Given the description of an element on the screen output the (x, y) to click on. 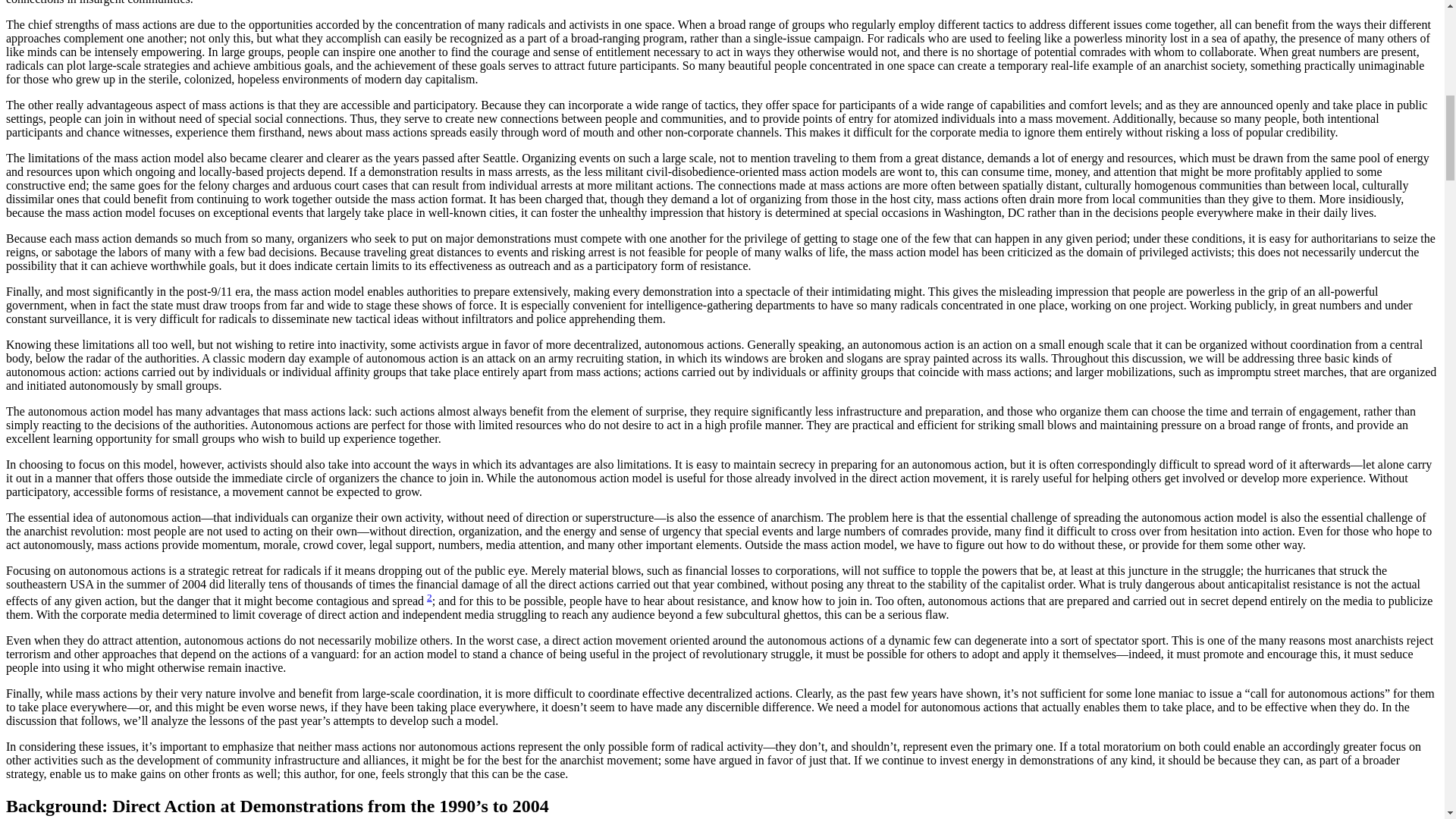
2 (429, 596)
